Given the description of an element on the screen output the (x, y) to click on. 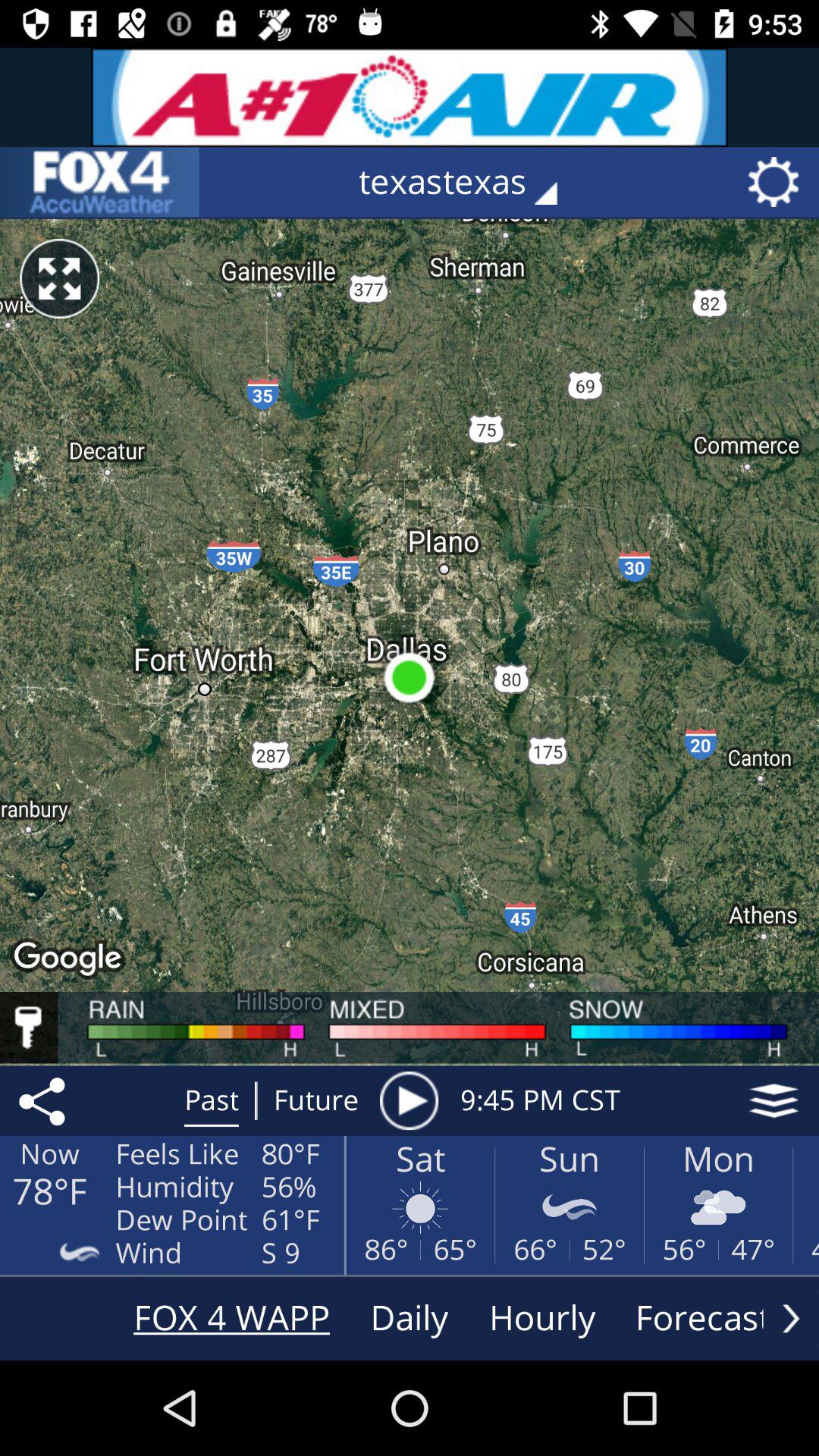
scroll over (791, 1318)
